Given the description of an element on the screen output the (x, y) to click on. 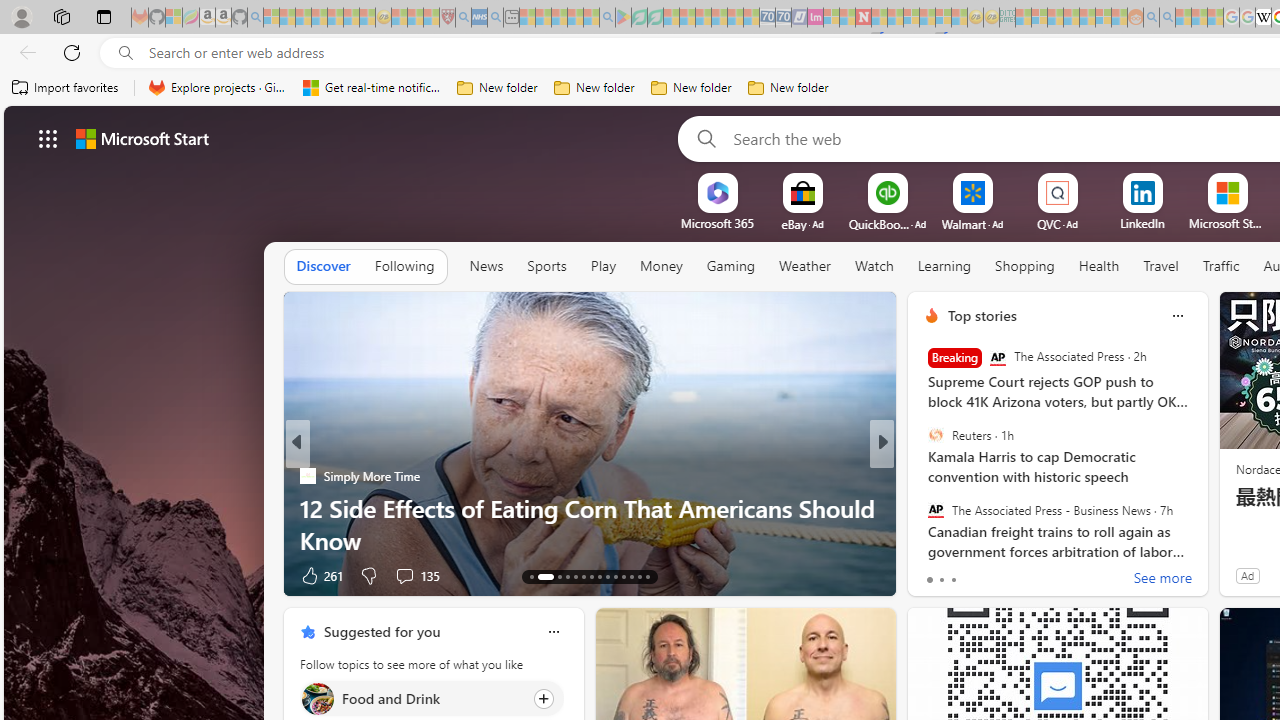
Latest Politics News & Archive | Newsweek.com - Sleeping (863, 17)
Money (660, 265)
list of asthma inhalers uk - Search - Sleeping (463, 17)
Top stories (982, 315)
Sports (546, 265)
Weather (804, 265)
AutomationID: tab-26 (646, 576)
View comments 2 Comment (1019, 574)
MSNBC - MSN - Sleeping (1023, 17)
Kinda Frugal - MSN - Sleeping (1087, 17)
Import favorites (65, 88)
Discover (323, 265)
45 Like (934, 574)
